Given the description of an element on the screen output the (x, y) to click on. 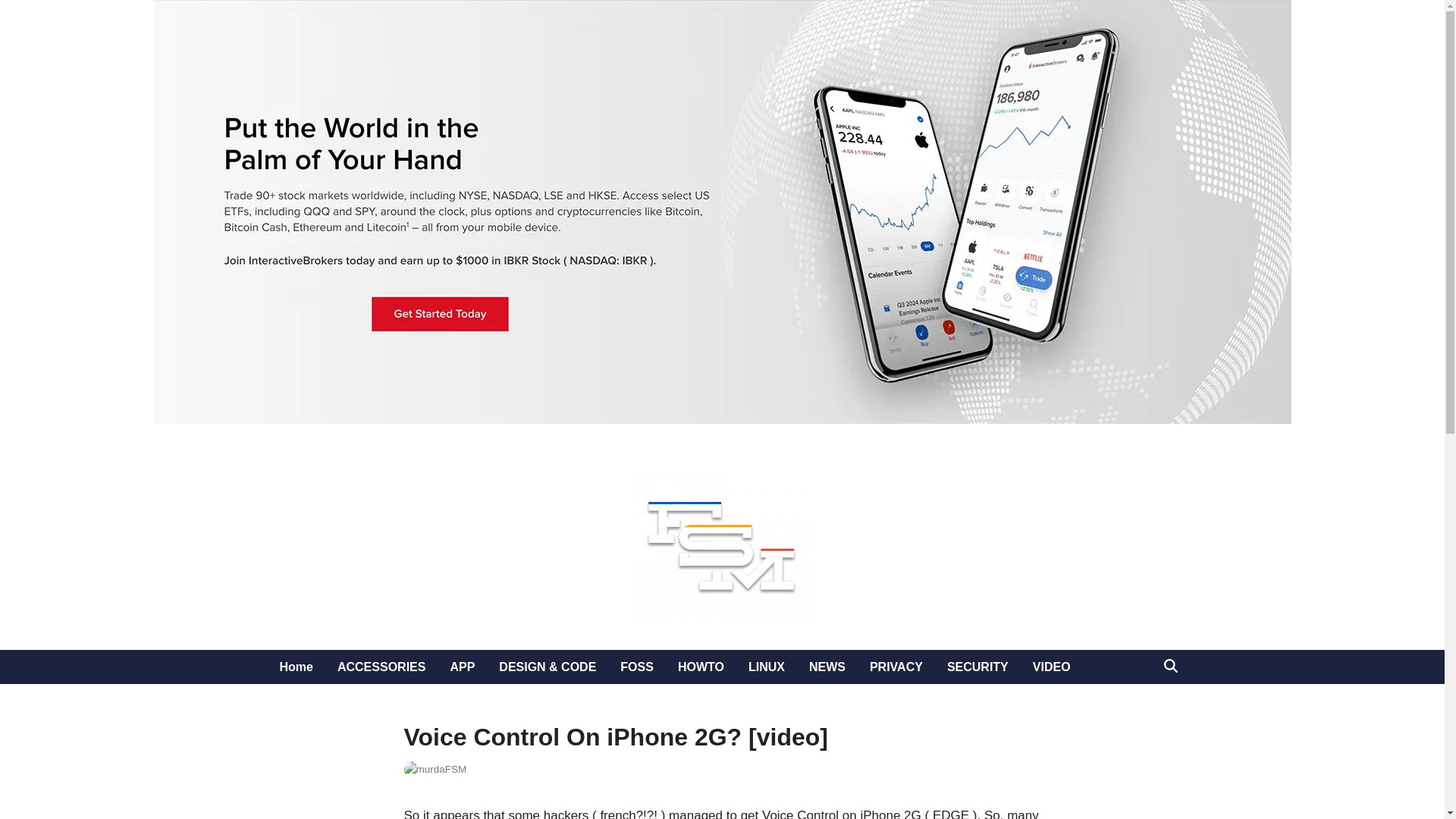
FOSS (636, 666)
VIDEO (1051, 666)
APP (462, 666)
SECURITY (977, 666)
Home (295, 666)
ACCESSORIES (381, 666)
LINUX (766, 666)
PRIVACY (895, 666)
HOWTO (700, 666)
NEWS (826, 666)
